Given the description of an element on the screen output the (x, y) to click on. 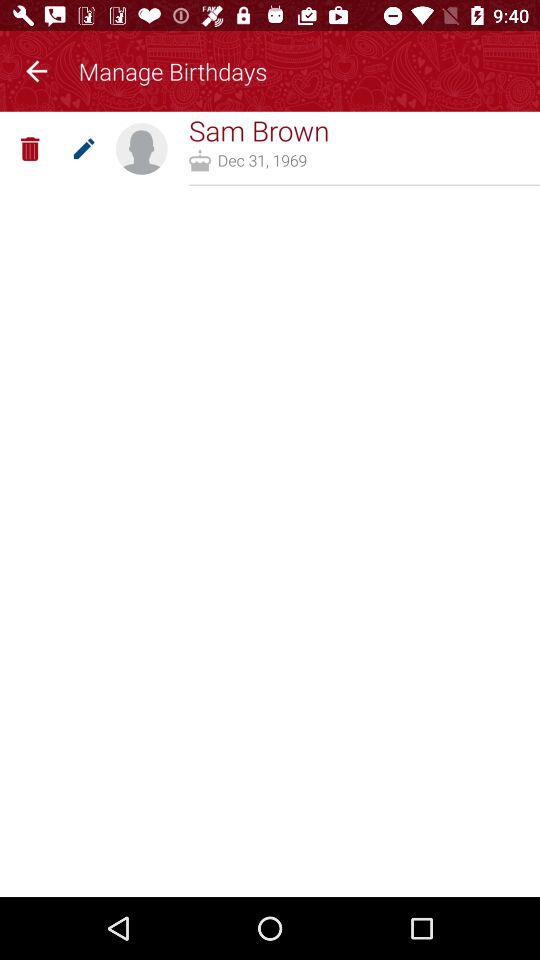
launch the sam brown icon (258, 130)
